Given the description of an element on the screen output the (x, y) to click on. 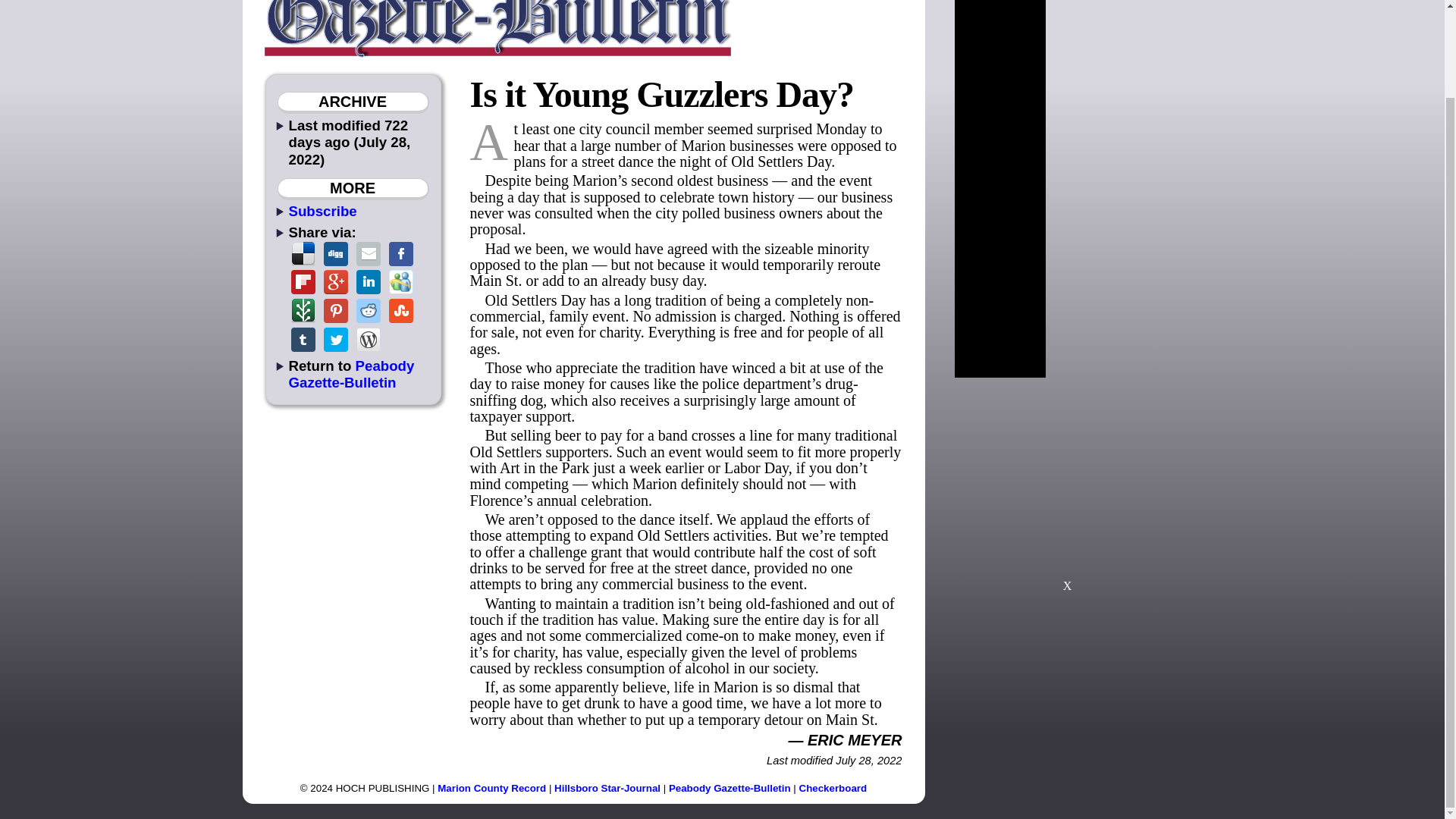
Peabody Gazette-Bulletin (729, 787)
Advertisement (1067, 491)
Checkerboard (833, 787)
Marion County Record (492, 787)
Hillsboro Star-Journal (607, 787)
Subscribe (322, 211)
Peabody Gazette-Bulletin (350, 373)
